Given the description of an element on the screen output the (x, y) to click on. 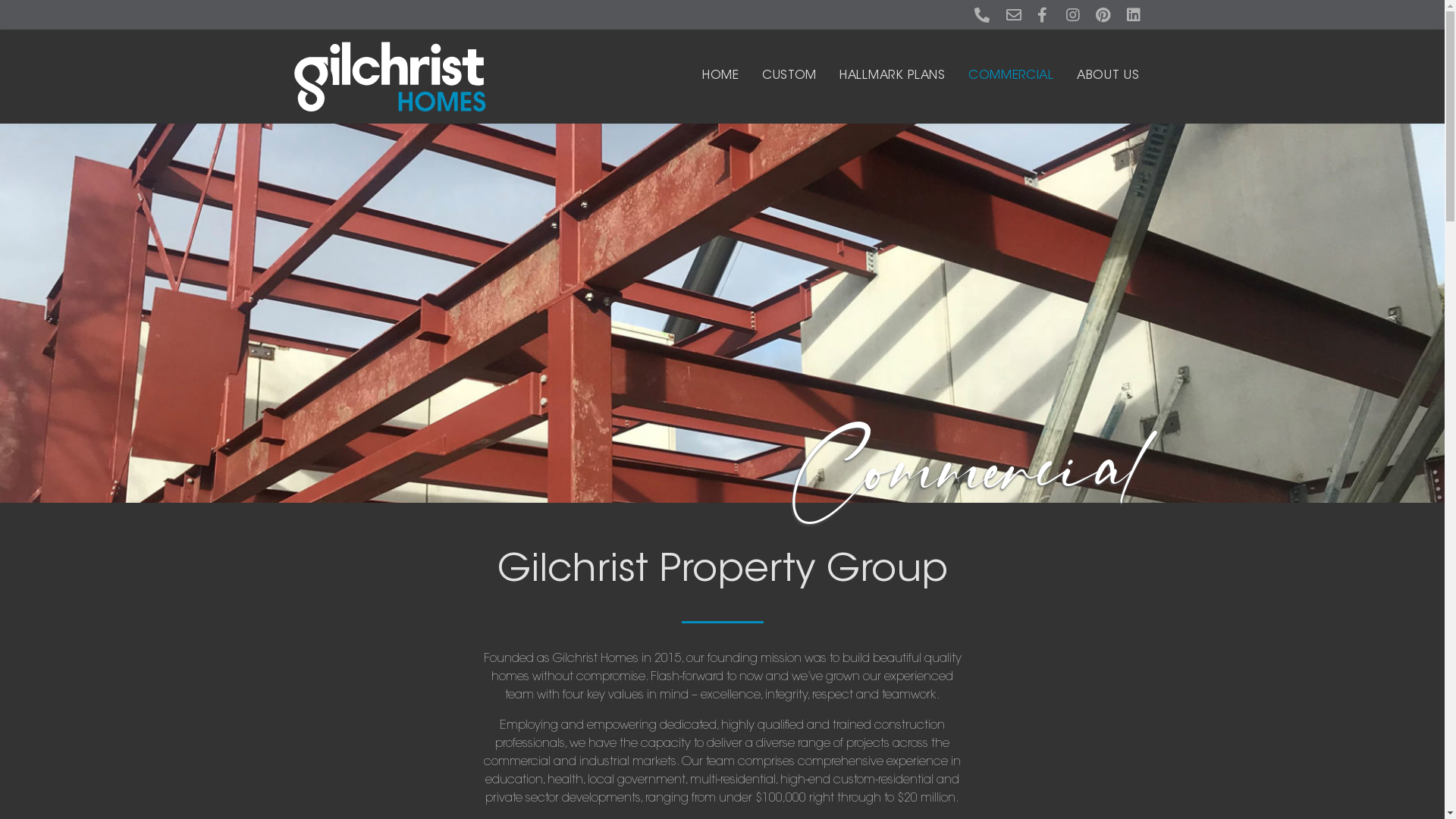
ABOUT US Element type: text (1107, 76)
HOME Element type: text (720, 76)
HALLMARK PLANS Element type: text (892, 76)
COMMERCIAL Element type: text (1011, 76)
CUSTOM Element type: text (789, 76)
